Given the description of an element on the screen output the (x, y) to click on. 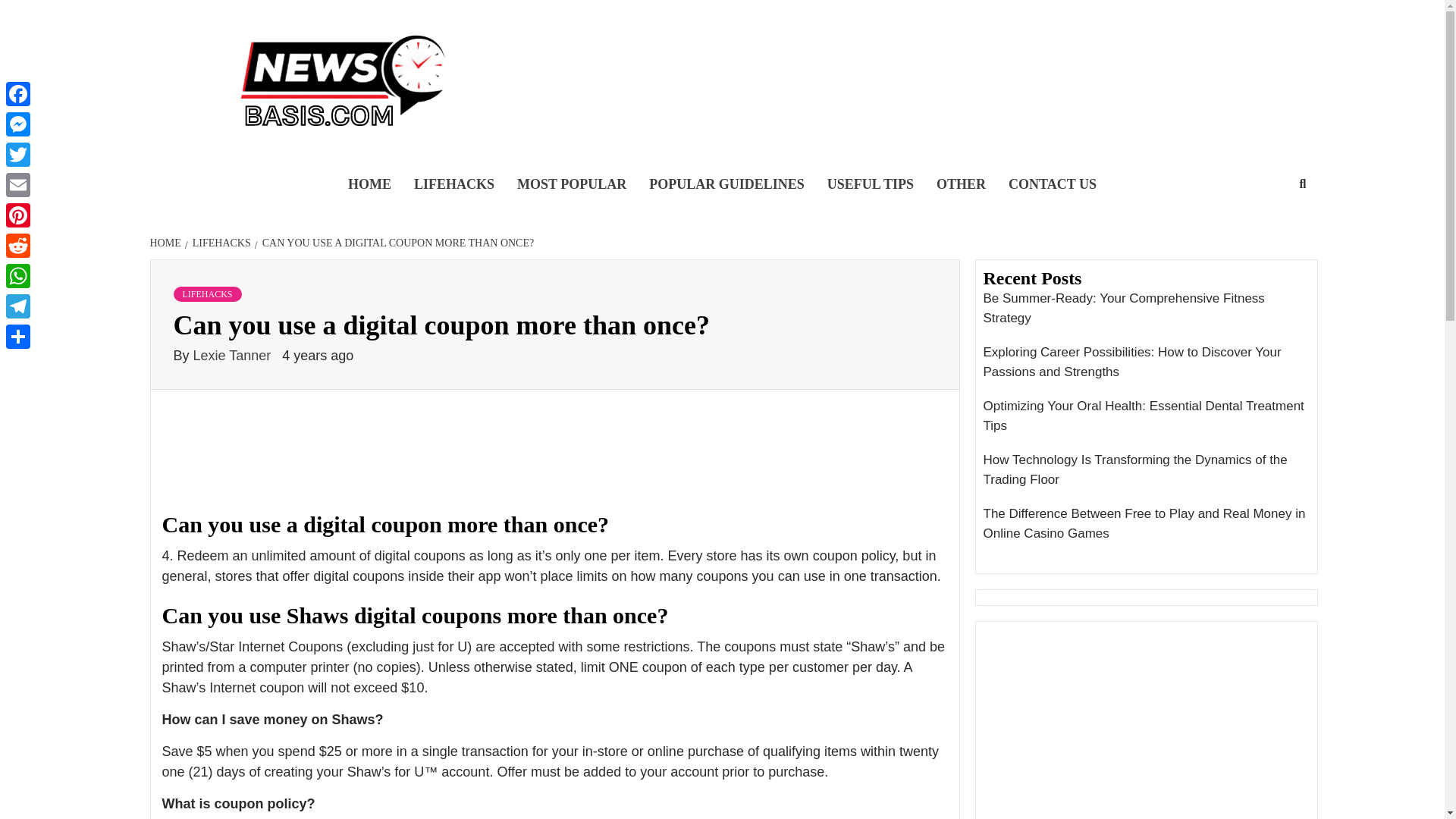
Be Summer-Ready: Your Comprehensive Fitness Strategy (1145, 311)
MOST POPULAR (571, 184)
Optimizing Your Oral Health: Essential Dental Treatment Tips (1145, 419)
Reddit (17, 245)
LIFEHACKS (207, 294)
Email (17, 184)
Messenger (17, 123)
Email (17, 184)
Twitter (17, 154)
LIFEHACKS (219, 242)
HOME (369, 184)
Messenger (17, 123)
Facebook (17, 93)
Reddit (17, 245)
